Given the description of an element on the screen output the (x, y) to click on. 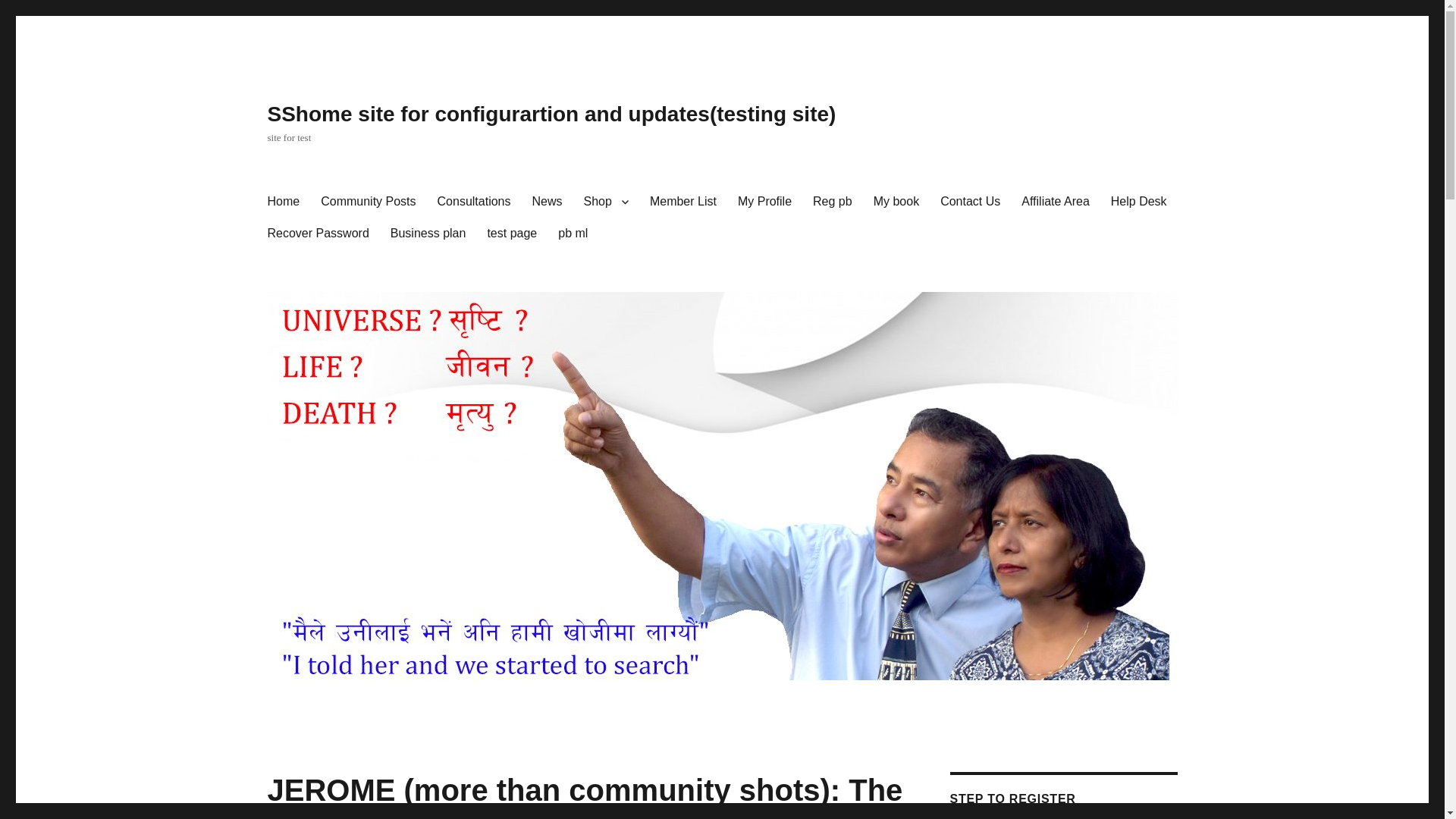
Contact Us (970, 201)
test page (511, 233)
Member List (682, 201)
My book (896, 201)
Business plan (428, 233)
Help Desk (1138, 201)
Recover Password (317, 233)
Reg pb (832, 201)
My Profile (764, 201)
News (547, 201)
